Given the description of an element on the screen output the (x, y) to click on. 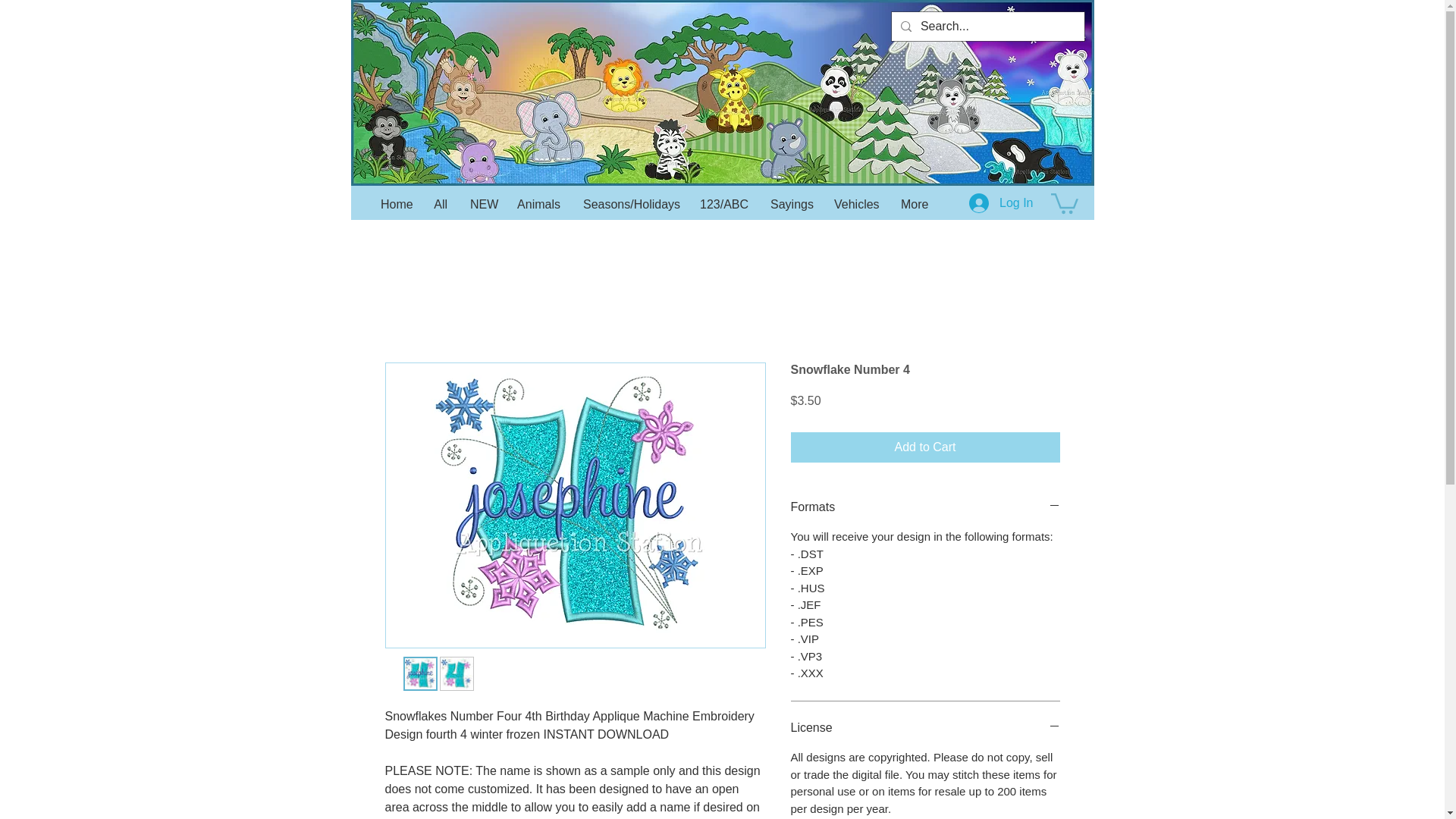
Log In (1000, 203)
NEW (481, 204)
Home (395, 204)
All (440, 204)
Sayings (790, 204)
Vehicles (855, 204)
Animals (538, 204)
